Given the description of an element on the screen output the (x, y) to click on. 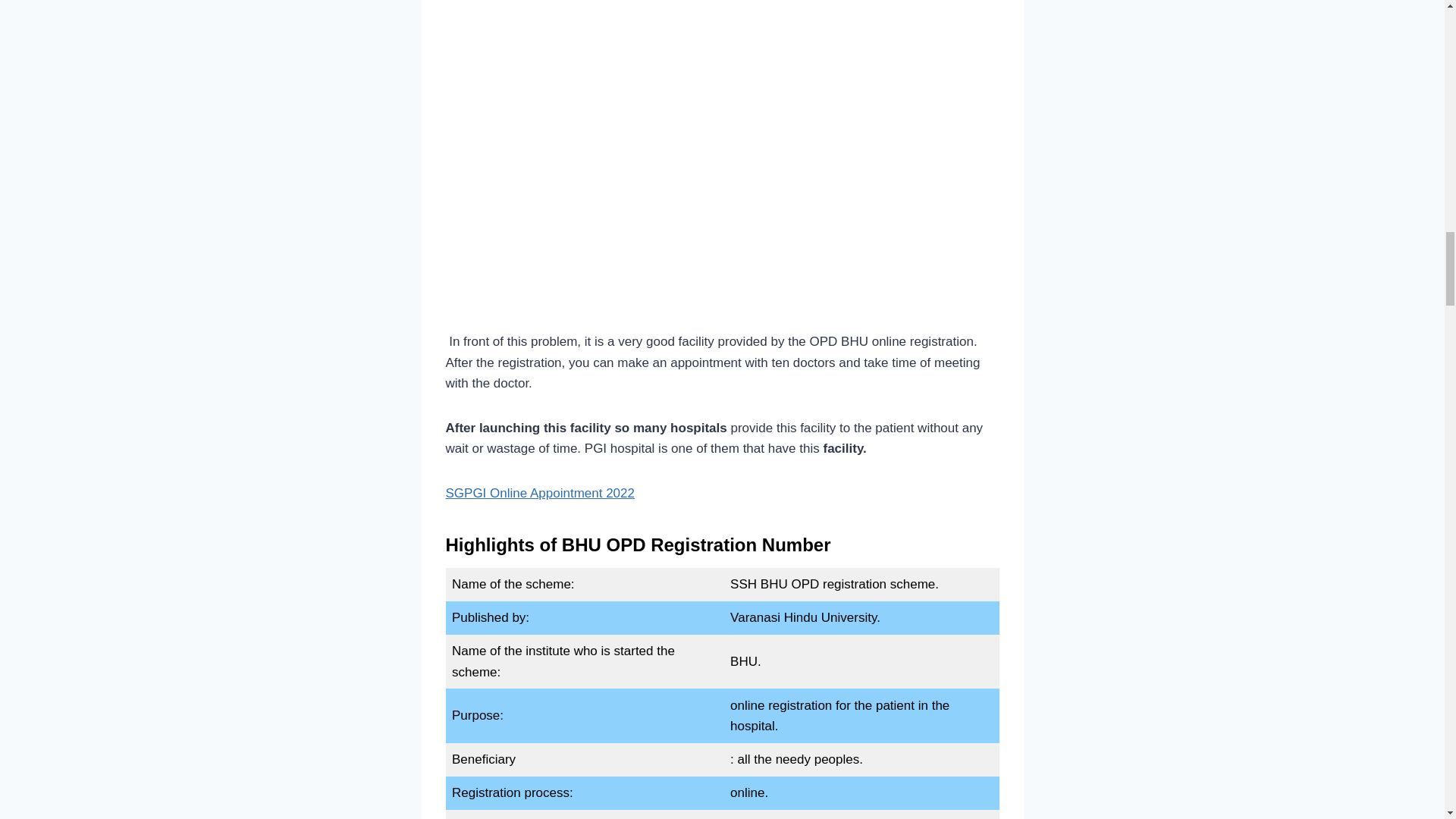
SGPGI Online Appointment 2022 (539, 493)
Advertisement (721, 192)
